Given the description of an element on the screen output the (x, y) to click on. 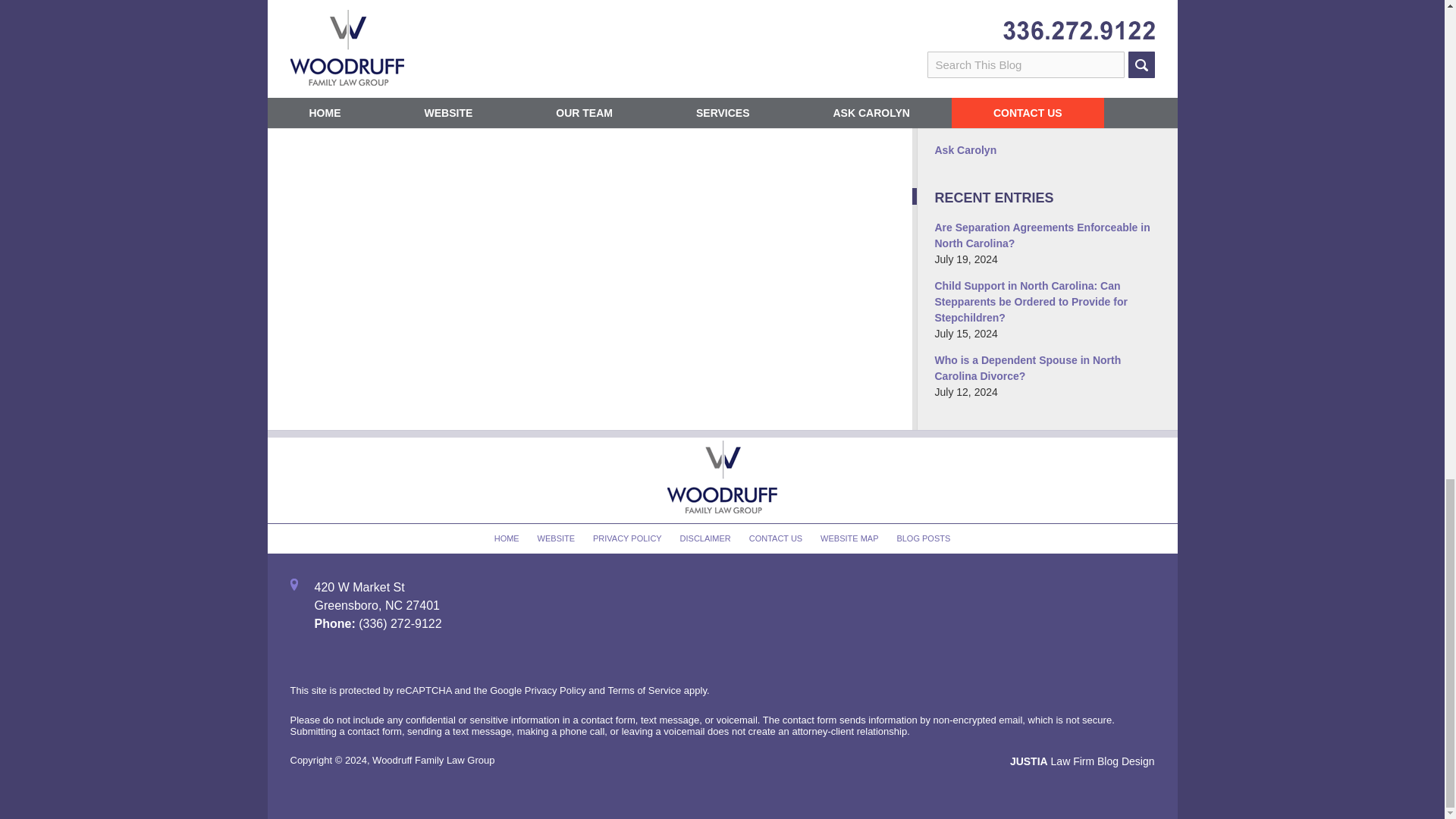
The Importance of Child Support Evidence (316, 45)
Home (375, 45)
Using a Process Server in North Carolina (422, 45)
